Given the description of an element on the screen output the (x, y) to click on. 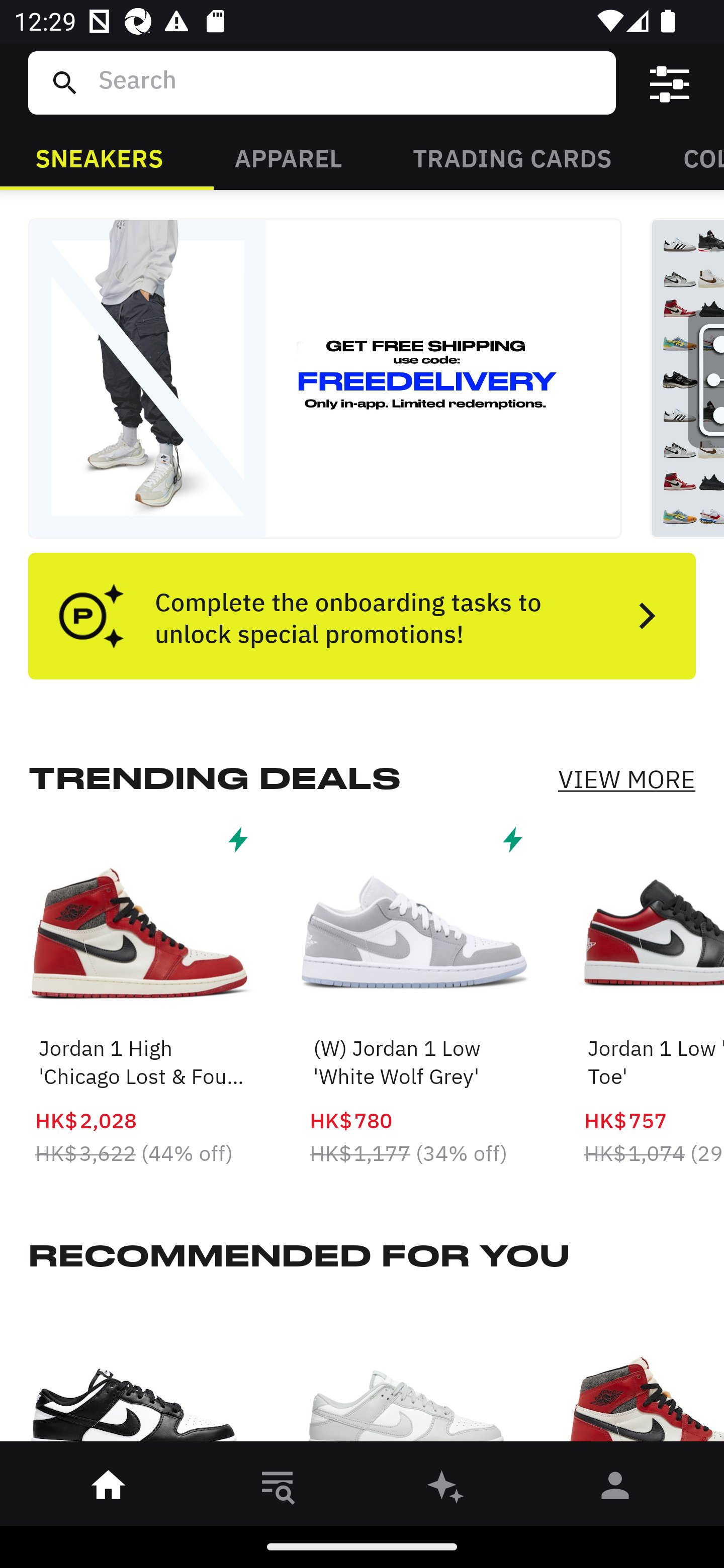
Search (349, 82)
 (669, 82)
SNEAKERS (99, 156)
APPAREL (287, 156)
TRADING CARDS (512, 156)
VIEW MORE (626, 779)
󰋜 (108, 1488)
󱎸 (277, 1488)
󰫢 (446, 1488)
󰀄 (615, 1488)
